Given the description of an element on the screen output the (x, y) to click on. 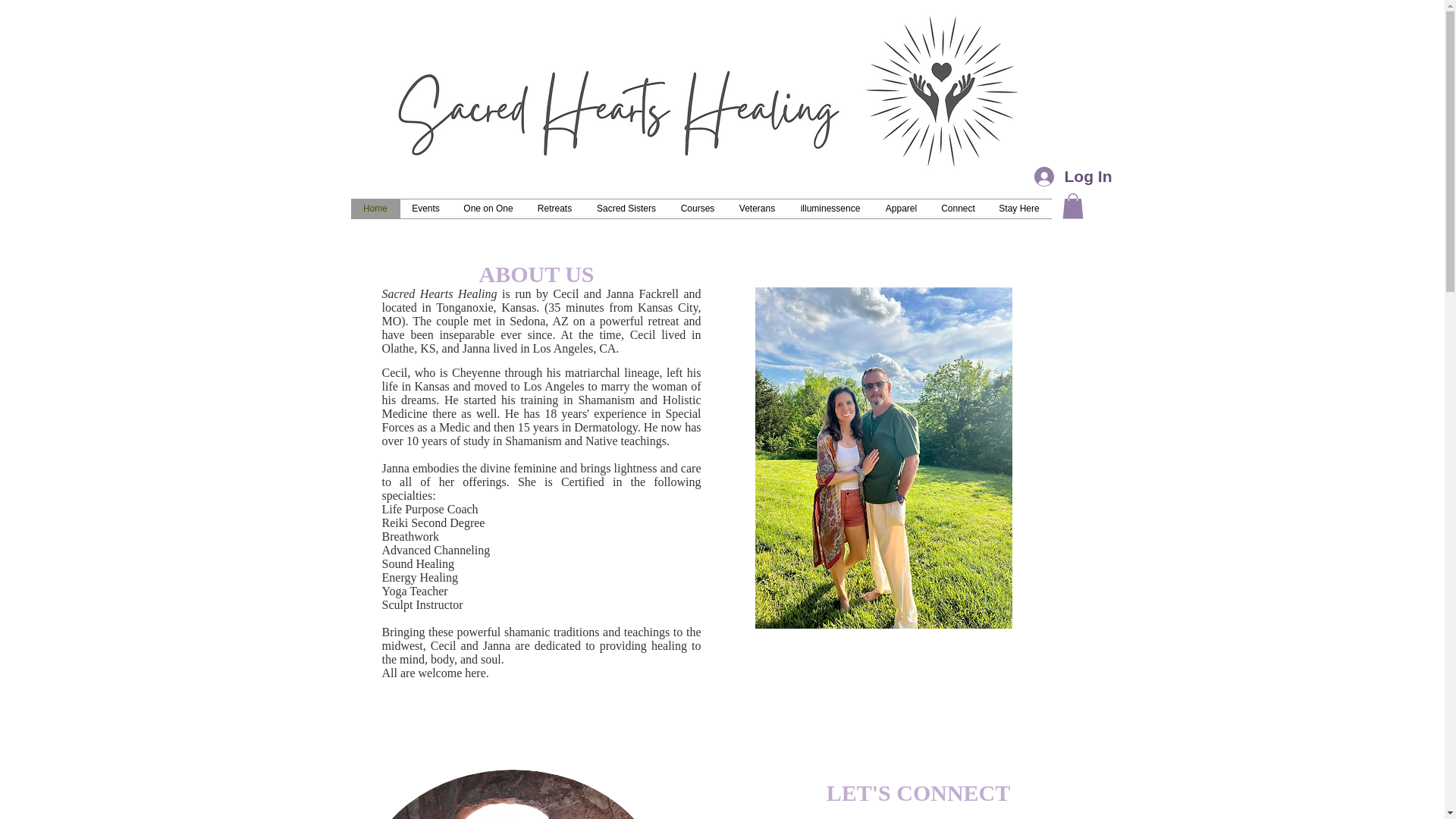
Veterans (756, 208)
Home (374, 208)
Stay Here (1019, 208)
Connect (958, 208)
Apparel (901, 208)
Retreats (553, 208)
illuminessence (829, 208)
Events (425, 208)
Courses (697, 208)
One on One (488, 208)
Log In (1058, 175)
Sacred Sisters (625, 208)
